Given the description of an element on the screen output the (x, y) to click on. 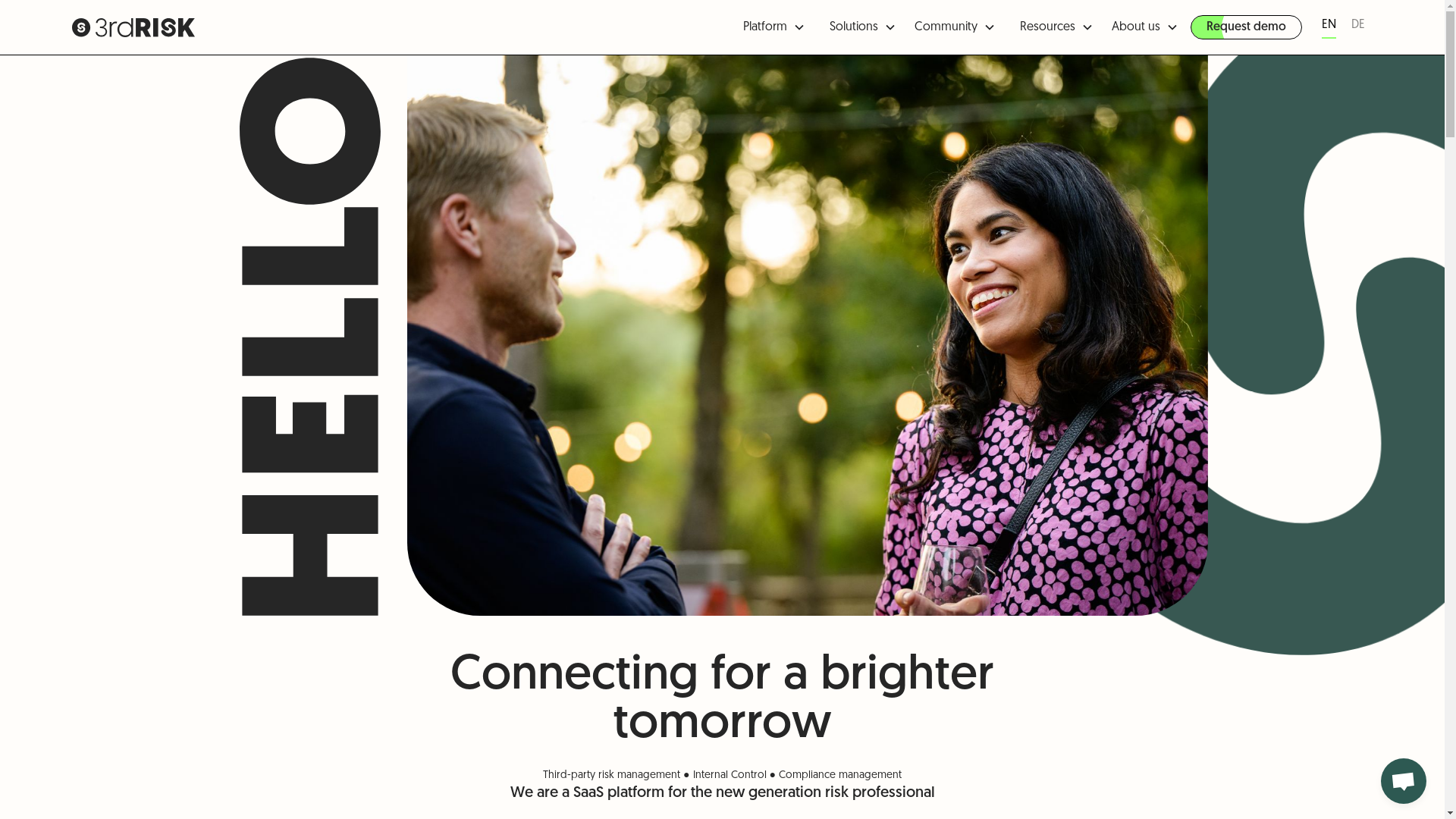
Request demo Element type: text (1246, 27)
DE Element type: text (1357, 27)
EN Element type: text (1328, 27)
